Given the description of an element on the screen output the (x, y) to click on. 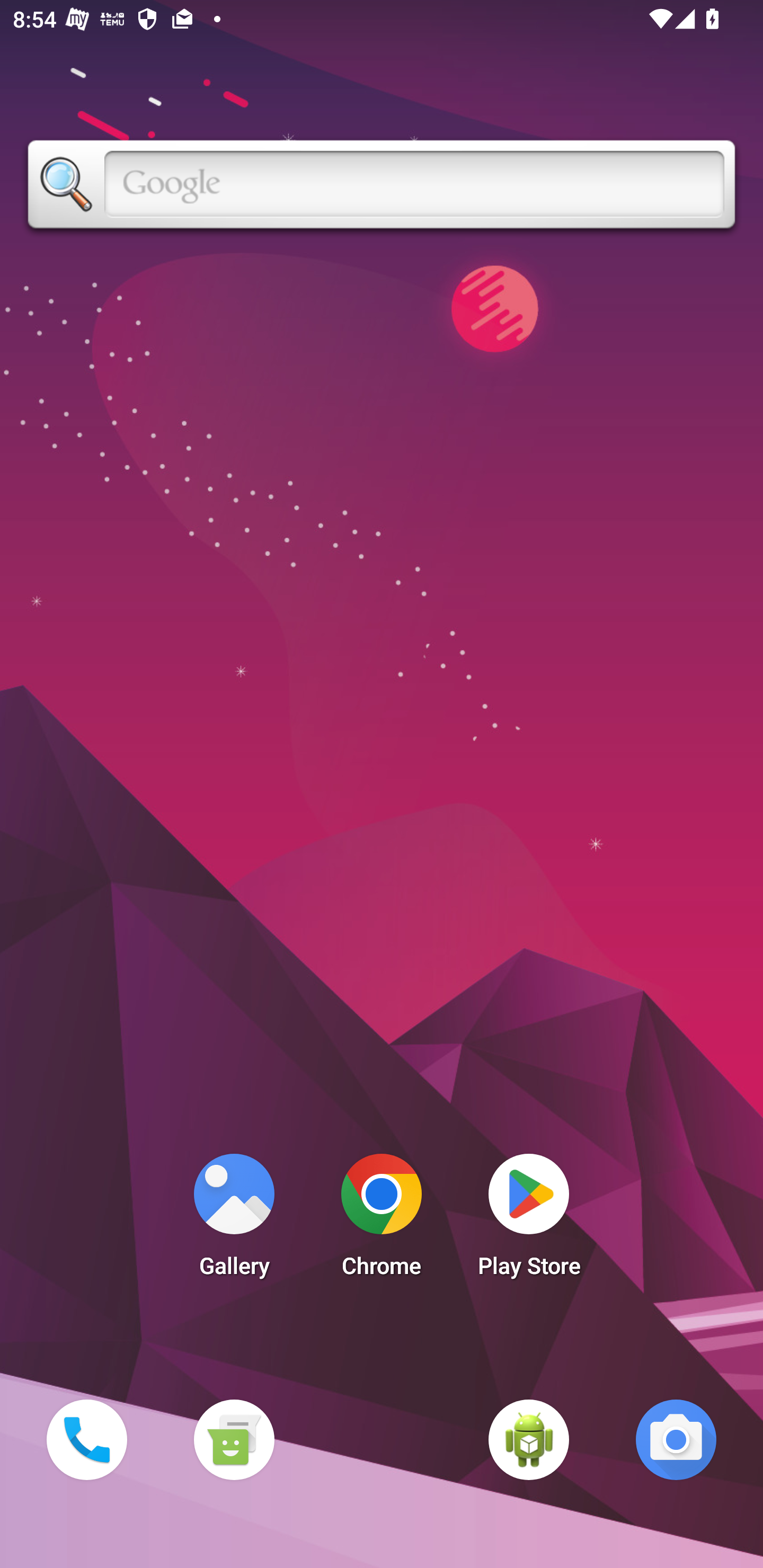
Gallery (233, 1220)
Chrome (381, 1220)
Play Store (528, 1220)
Phone (86, 1439)
Messaging (233, 1439)
WebView Browser Tester (528, 1439)
Camera (676, 1439)
